Given the description of an element on the screen output the (x, y) to click on. 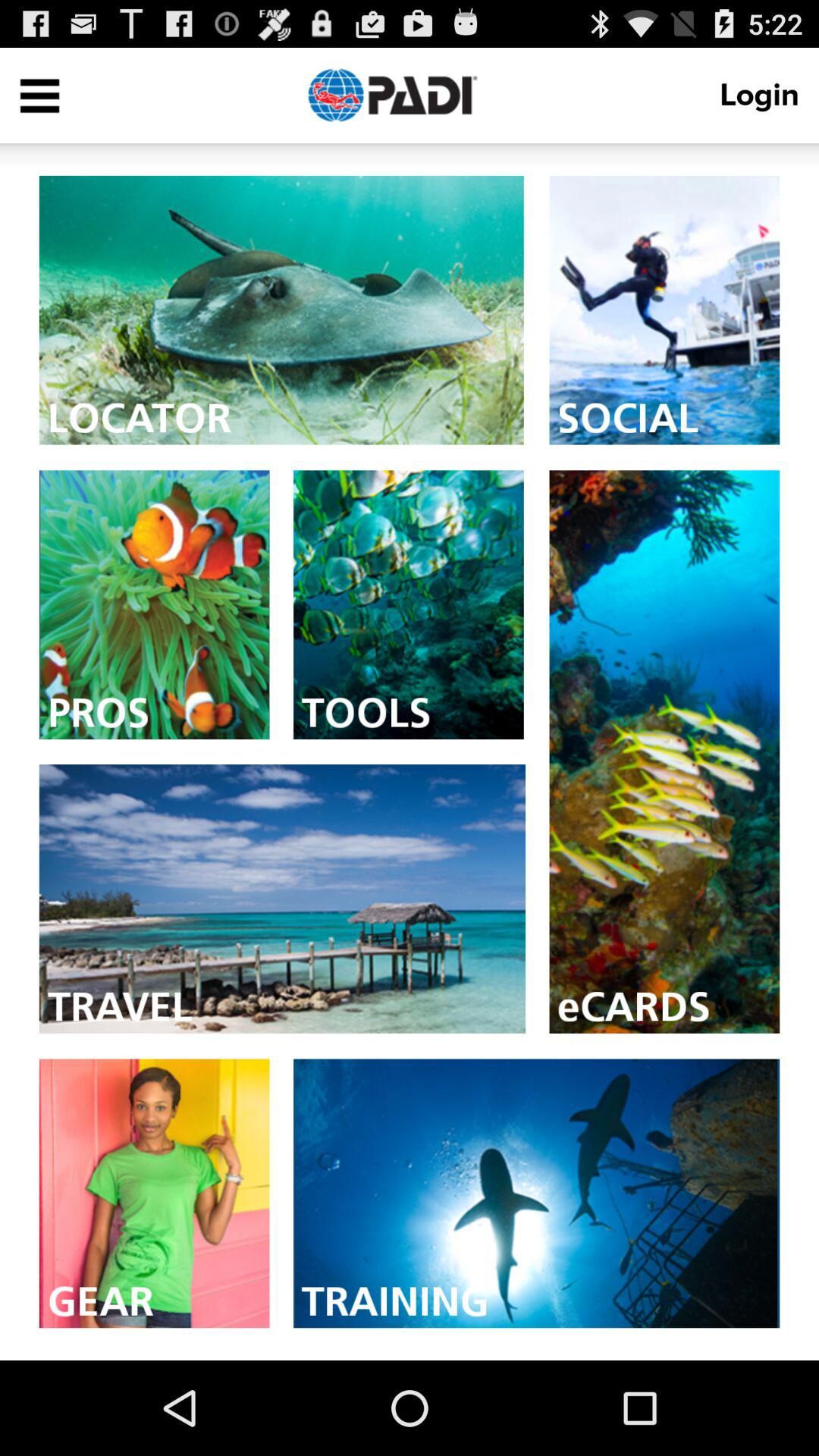
view menu (39, 95)
